Given the description of an element on the screen output the (x, y) to click on. 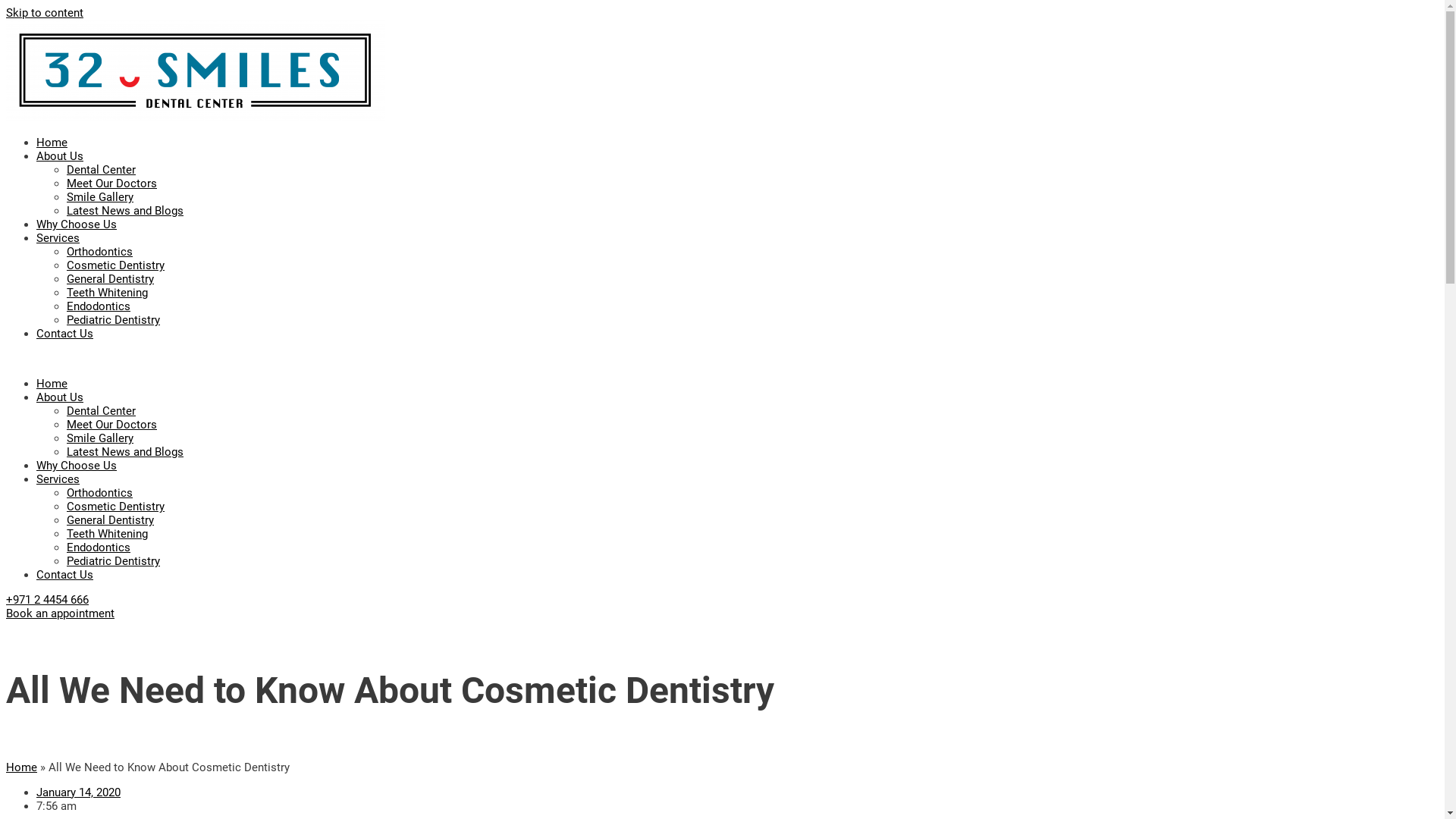
Teeth Whitening Element type: text (106, 292)
Cosmetic Dentistry Element type: text (115, 506)
Dental Center Element type: text (100, 410)
Orthodontics Element type: text (99, 492)
Smile Gallery Element type: text (99, 196)
General Dentistry Element type: text (109, 520)
January 14, 2020 Element type: text (78, 792)
Services Element type: text (57, 237)
Dental Center Element type: text (100, 169)
Services Element type: text (57, 479)
Orthodontics Element type: text (99, 251)
Pediatric Dentistry Element type: text (113, 319)
Book an appointment Element type: text (60, 613)
Latest News and Blogs Element type: text (124, 451)
Latest News and Blogs Element type: text (124, 210)
Contact Us Element type: text (64, 574)
Home Element type: text (51, 142)
About Us Element type: text (59, 397)
Endodontics Element type: text (98, 306)
General Dentistry Element type: text (109, 278)
32Smiles LOGO 500x134 Element type: hover (195, 70)
Teeth Whitening Element type: text (106, 533)
Contact Us Element type: text (64, 333)
Endodontics Element type: text (98, 547)
Skip to content Element type: text (44, 12)
Meet Our Doctors Element type: text (111, 183)
Meet Our Doctors Element type: text (111, 424)
About Us Element type: text (59, 156)
Why Choose Us Element type: text (76, 465)
Smile Gallery Element type: text (99, 438)
Cosmetic Dentistry Element type: text (115, 265)
Why Choose Us Element type: text (76, 224)
+971 2 4454 666 Element type: text (47, 599)
Home Element type: text (51, 383)
Pediatric Dentistry Element type: text (113, 560)
Home Element type: text (21, 767)
